Given the description of an element on the screen output the (x, y) to click on. 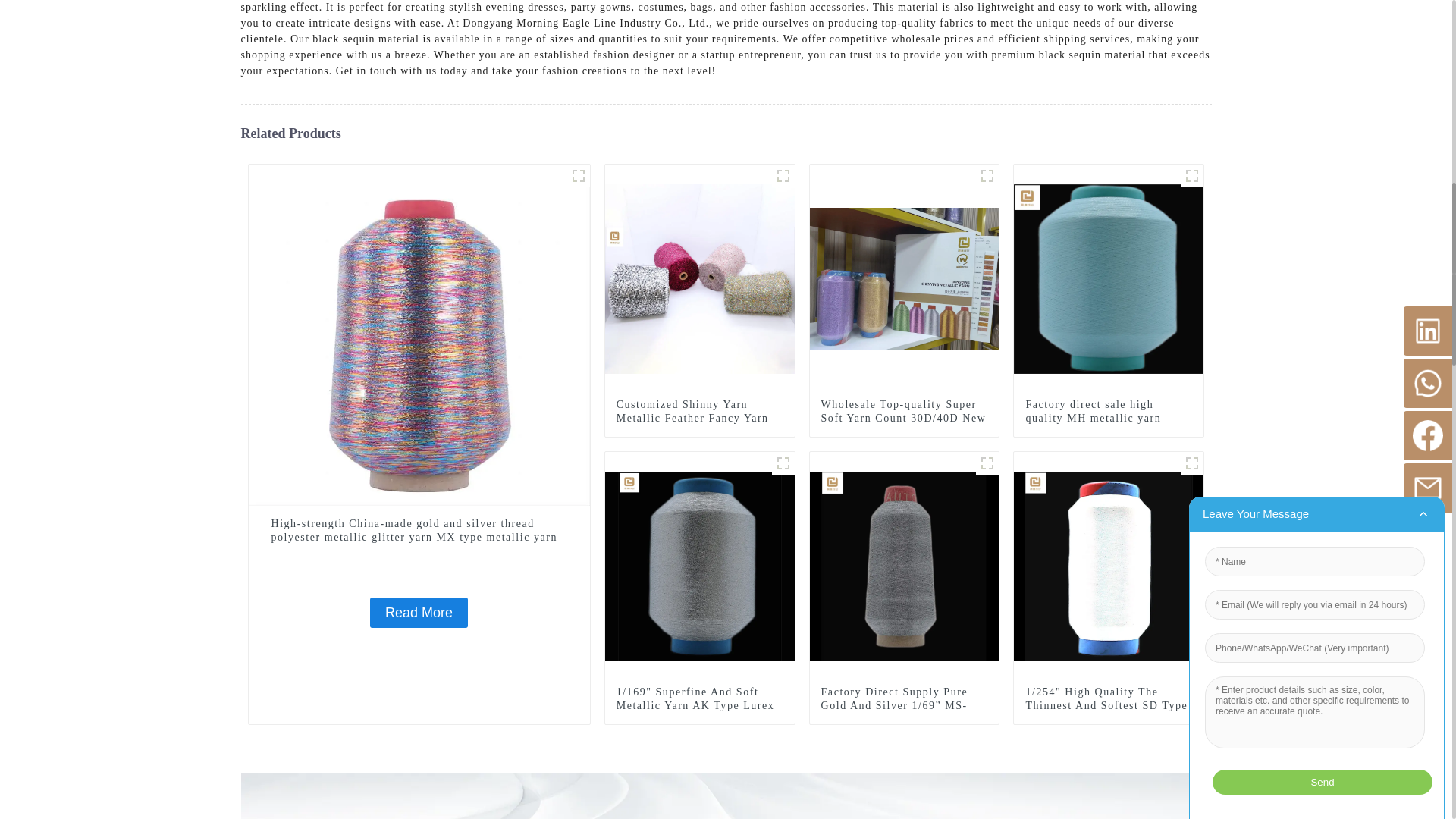
MH13 (1192, 175)
SD-9 (986, 175)
Read More (418, 612)
